Given the description of an element on the screen output the (x, y) to click on. 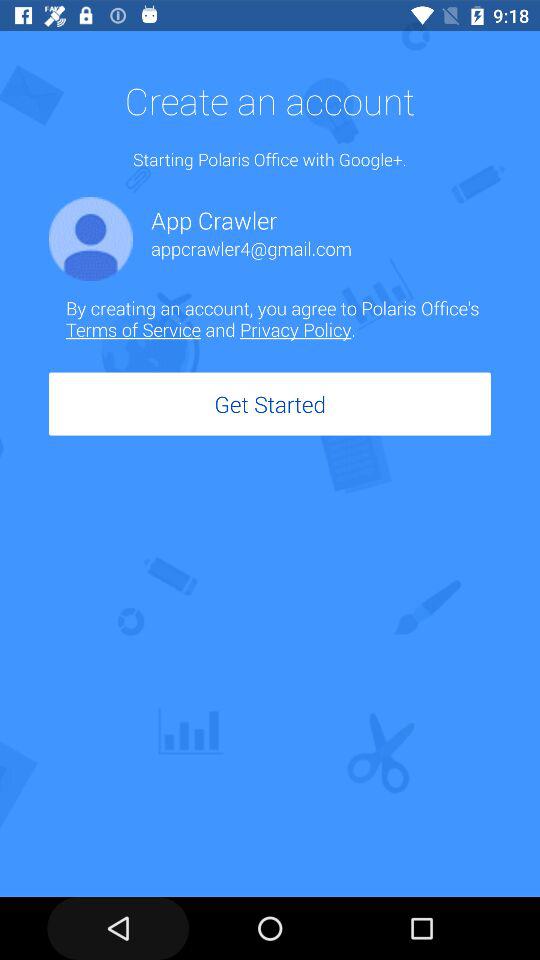
press the icon below the by creating an (269, 403)
